Given the description of an element on the screen output the (x, y) to click on. 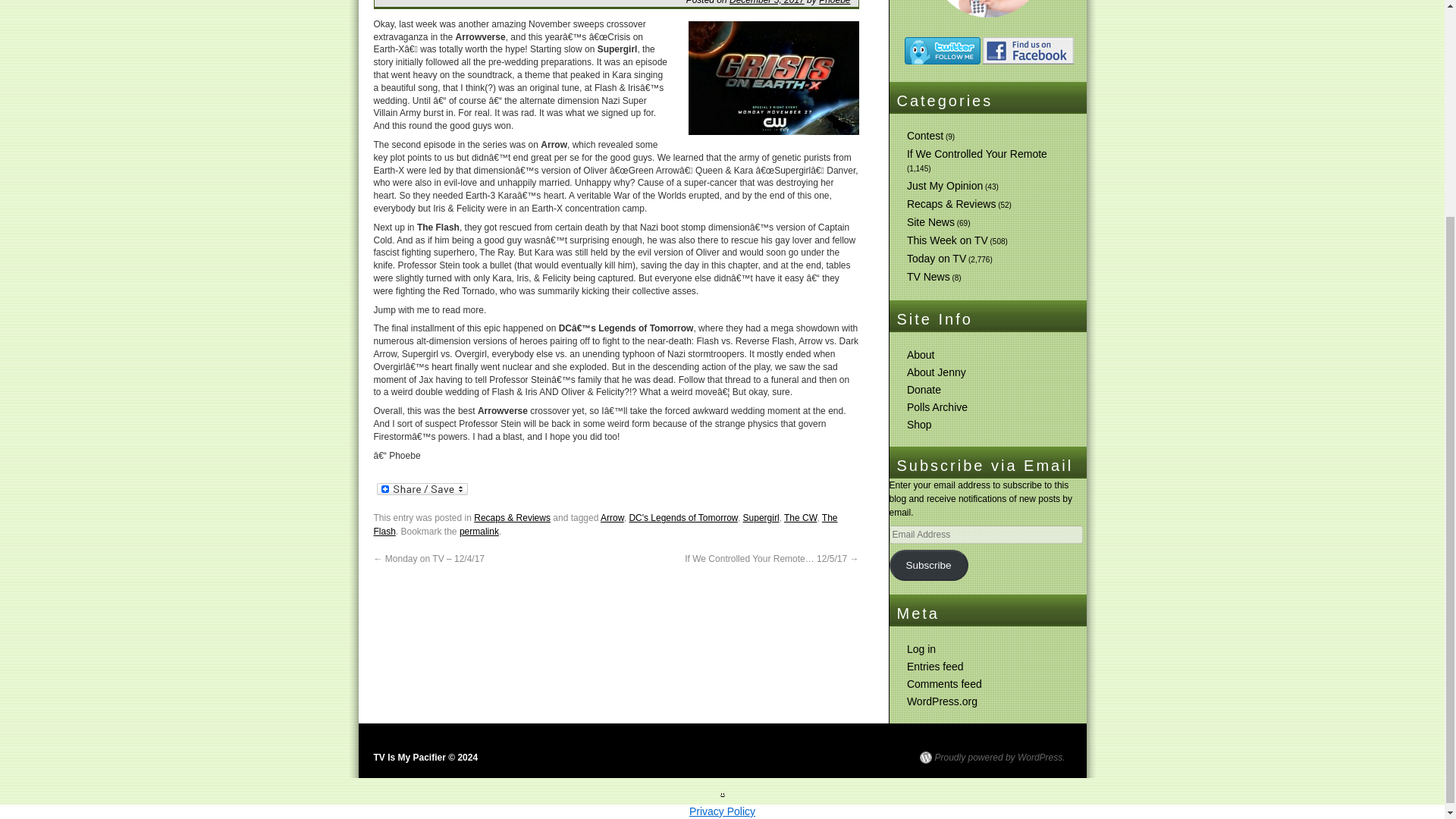
This Week on TV (947, 240)
If We Controlled Your Remote (976, 153)
Semantic Personal Publishing Platform (991, 757)
The CW (800, 517)
About Jenny (936, 372)
Supergirl (760, 517)
The Flash (604, 524)
TV News (928, 276)
Today on TV (936, 258)
DC's Legends of Tomorrow (682, 517)
Donate (923, 389)
Site News (931, 222)
December 5, 2017 (767, 2)
Arrow (611, 517)
About (920, 354)
